Given the description of an element on the screen output the (x, y) to click on. 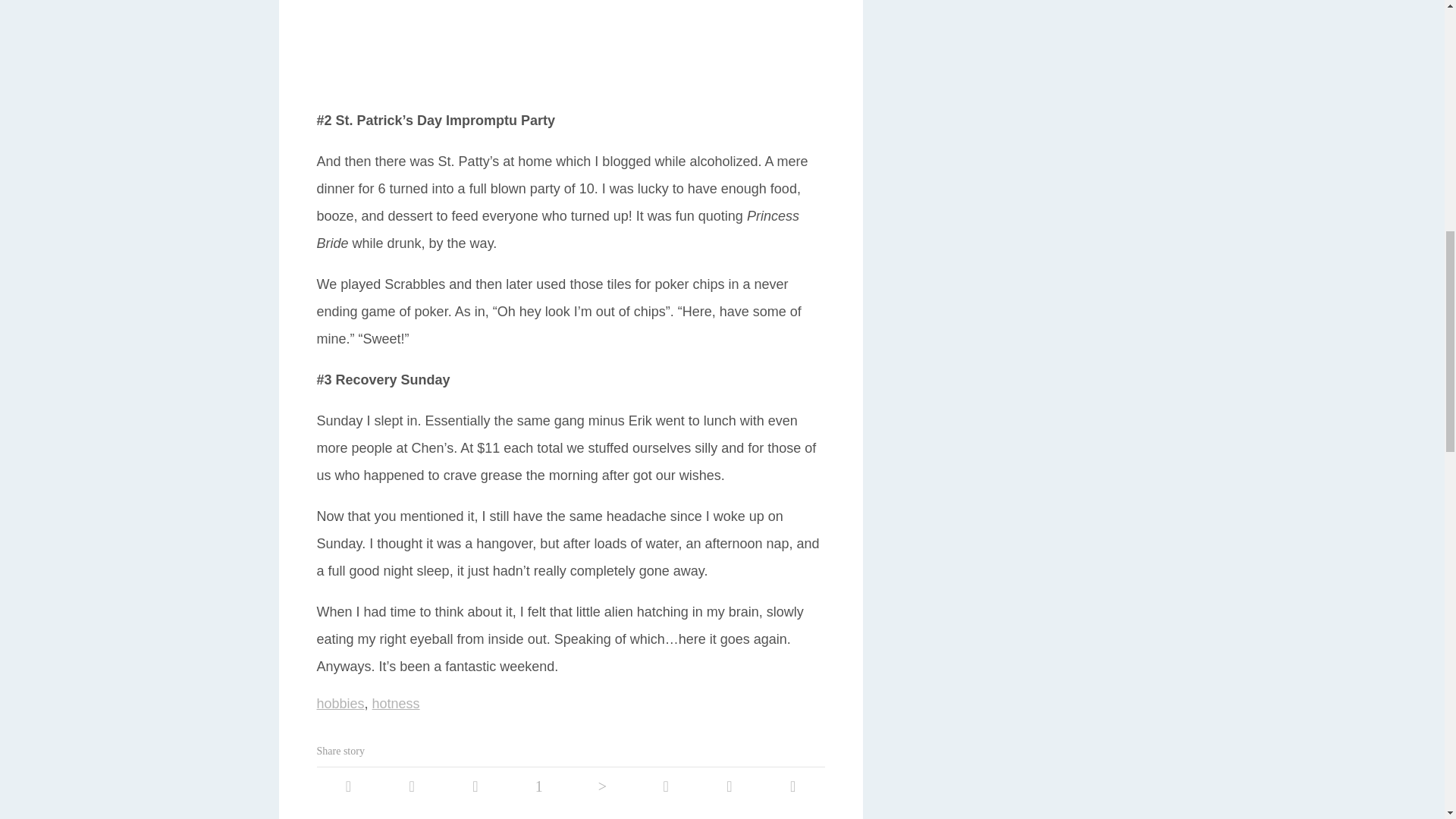
hobbies (341, 703)
hotness (396, 703)
